Given the description of an element on the screen output the (x, y) to click on. 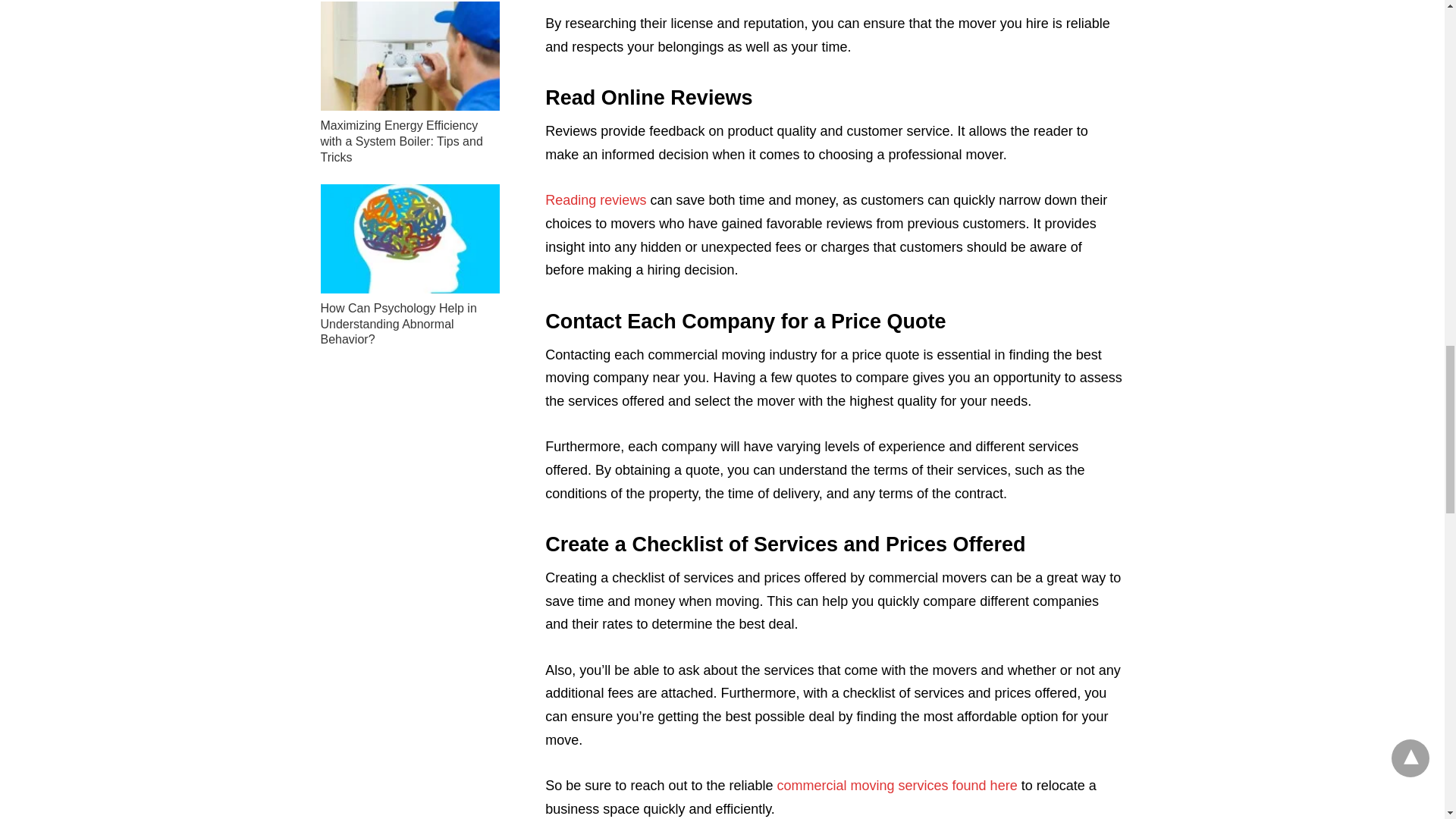
commercial moving services found here (897, 785)
How Can Psychology Help in Understanding Abnormal Behavior? (409, 238)
Reading reviews (595, 200)
How Can Psychology Help in Understanding Abnormal Behavior? (398, 324)
